Given the description of an element on the screen output the (x, y) to click on. 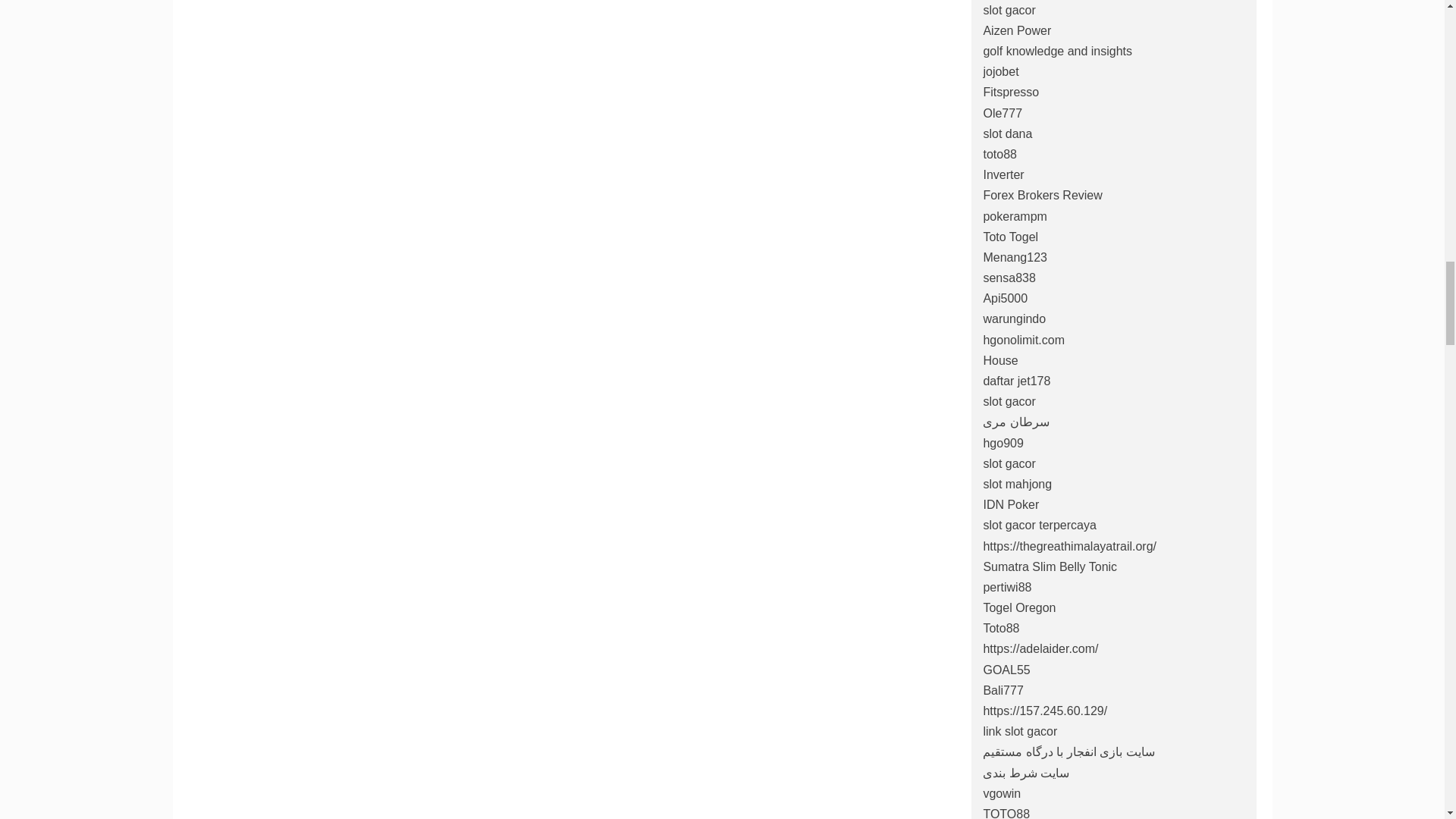
jojobet (999, 71)
